Given the description of an element on the screen output the (x, y) to click on. 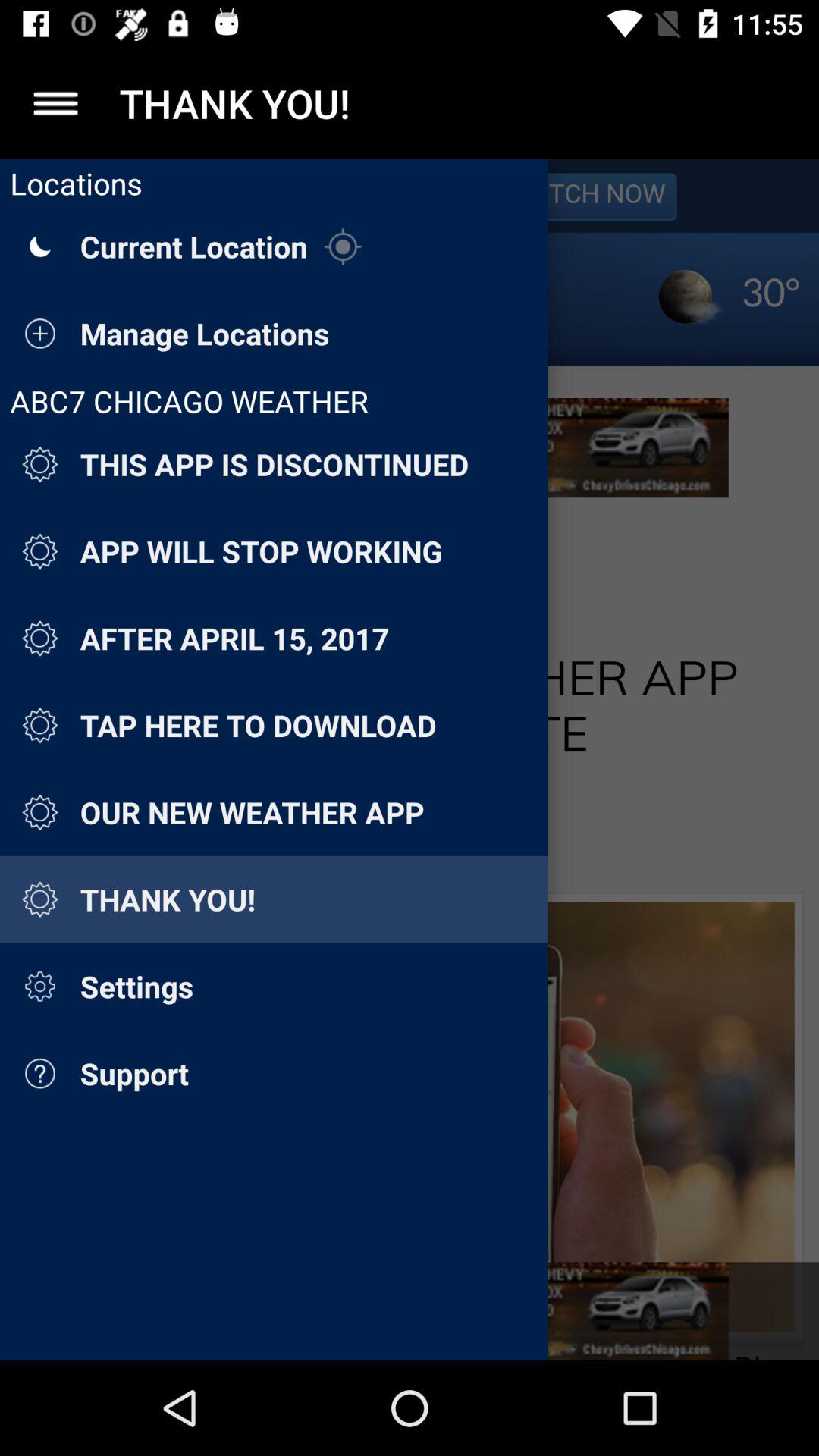
close side menu (55, 103)
